Given the description of an element on the screen output the (x, y) to click on. 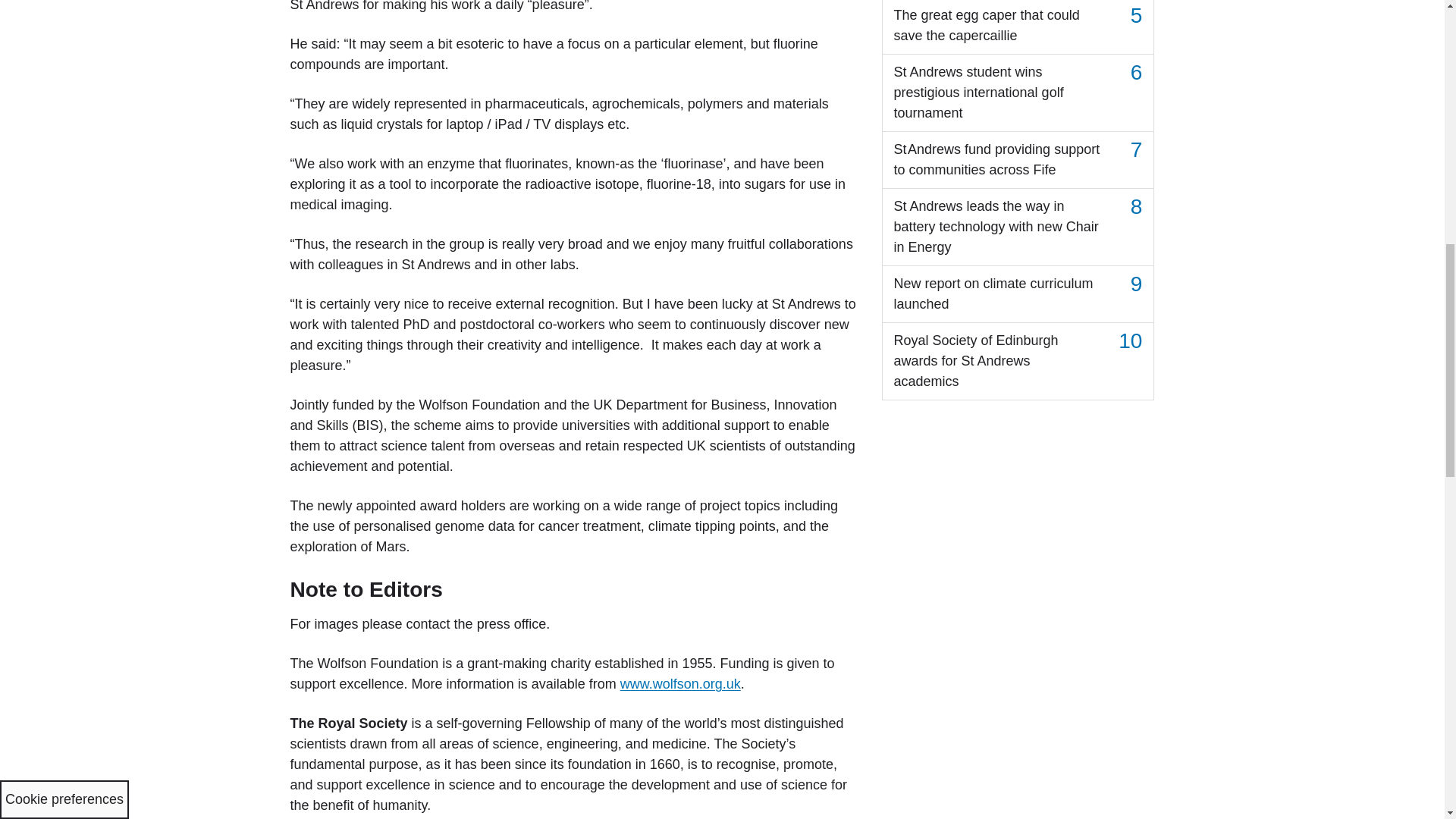
www.wolfson.org.uk (680, 683)
